Given the description of an element on the screen output the (x, y) to click on. 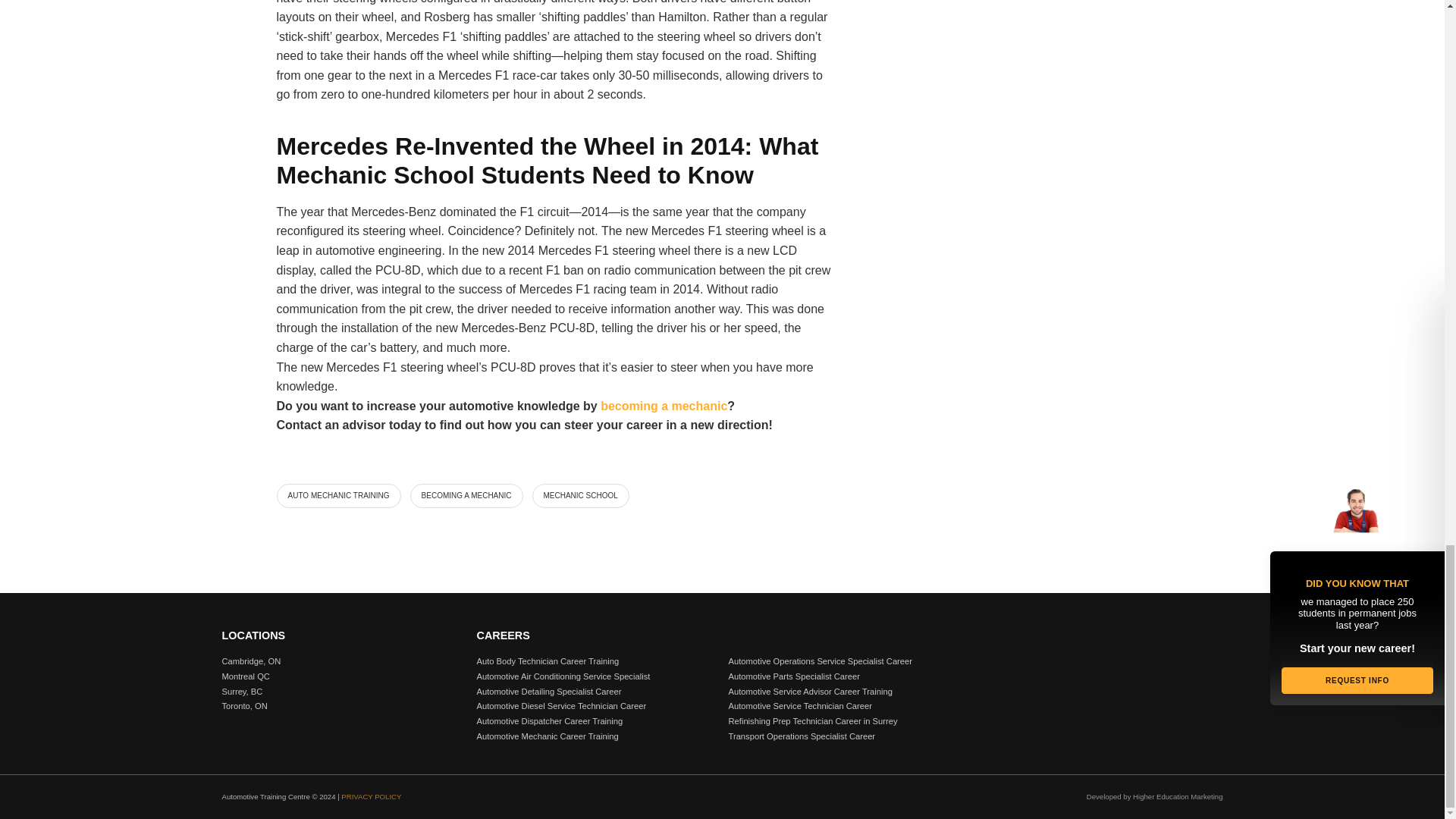
BECOMING A MECHANIC (466, 495)
MECHANIC SCHOOL (580, 495)
becoming a mechanic (662, 405)
AUTO MECHANIC TRAINING (338, 495)
